Given the description of an element on the screen output the (x, y) to click on. 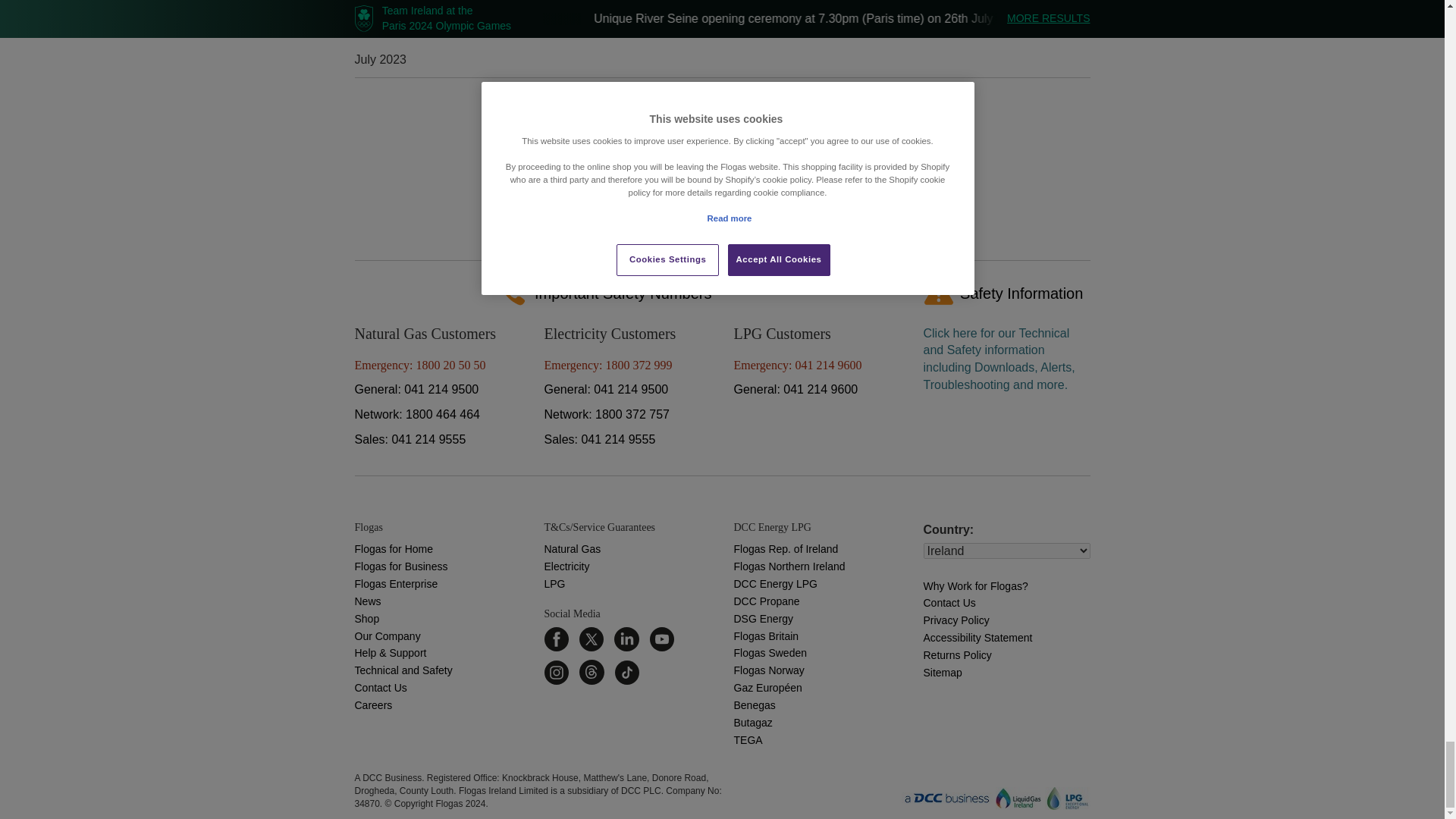
Follow Flogas on Twitter for updates, competitions and more! (591, 638)
Follow flogas on Linkedin for updates and much more! (626, 638)
Follow Flogas on instagram for updates and much more! (556, 671)
Follow Flogas on Tiktok for updates and much more! (626, 671)
Subscribe to Flogas on YouTube for updates and much more! (661, 638)
Follow Flogas on Threads for updates and much more! (591, 671)
